Given the description of an element on the screen output the (x, y) to click on. 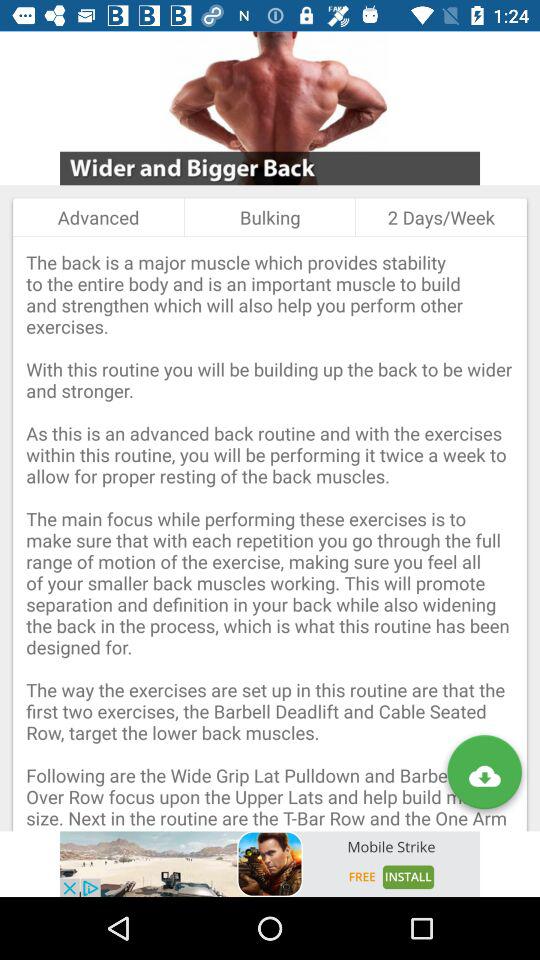
open item above the back is item (98, 217)
